Given the description of an element on the screen output the (x, y) to click on. 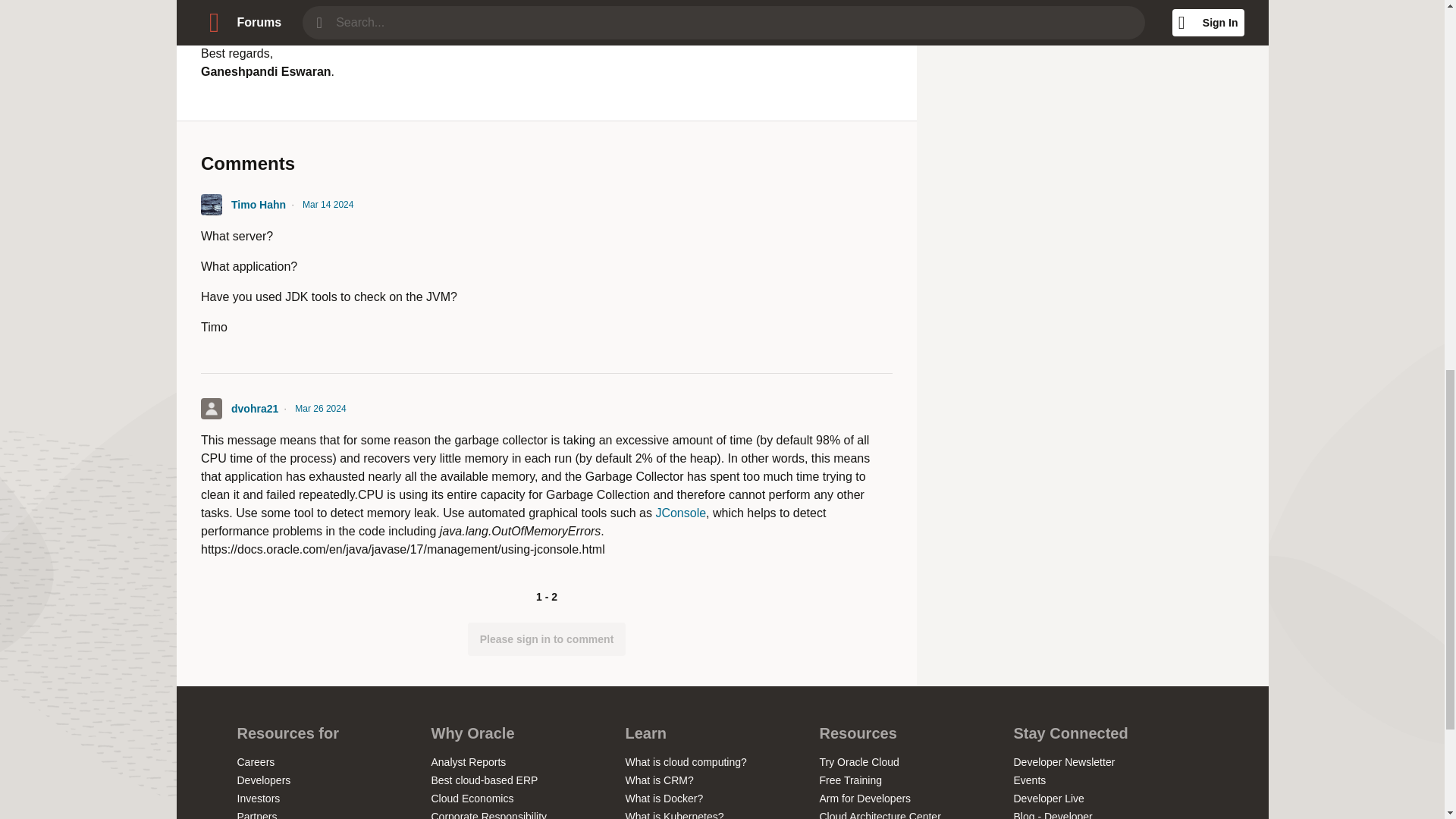
Please sign in to comment (546, 639)
Timo Hahn's Profile Page (210, 204)
14 Mar 2024 05:45 pm (328, 204)
Partners (255, 814)
Best cloud-based ERP (483, 779)
What is Docker? (663, 798)
26 Mar 2024 10:03 pm (320, 408)
dvohra21 (254, 408)
Investors (257, 798)
Corporate Responsibility (488, 814)
